Given the description of an element on the screen output the (x, y) to click on. 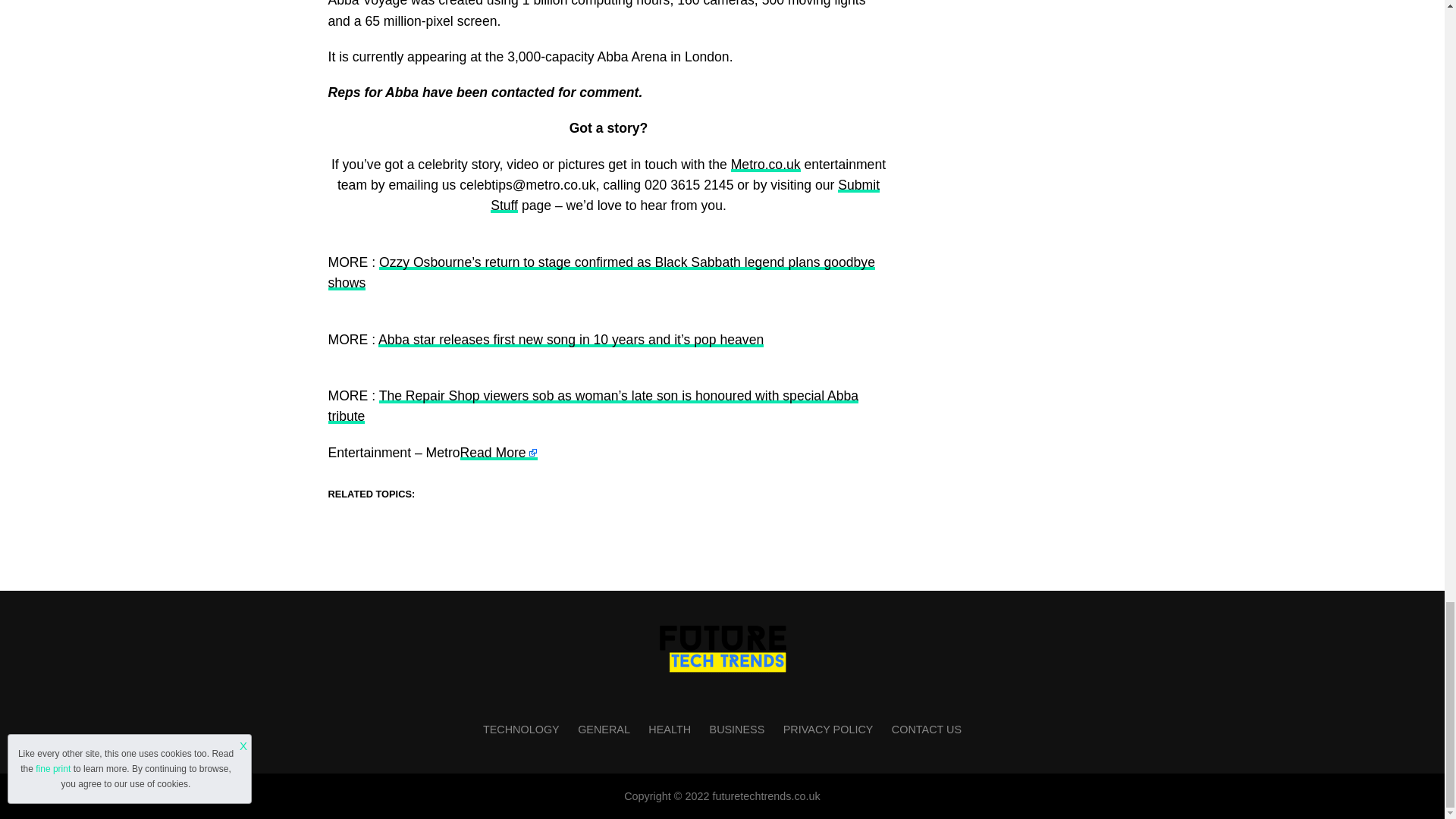
HEALTH (668, 729)
Submit Stuff (684, 194)
PRIVACY POLICY (828, 729)
BUSINESS (737, 729)
Read More (498, 452)
GENERAL (604, 729)
Metro.co.uk (765, 164)
TECHNOLOGY (521, 729)
